Given the description of an element on the screen output the (x, y) to click on. 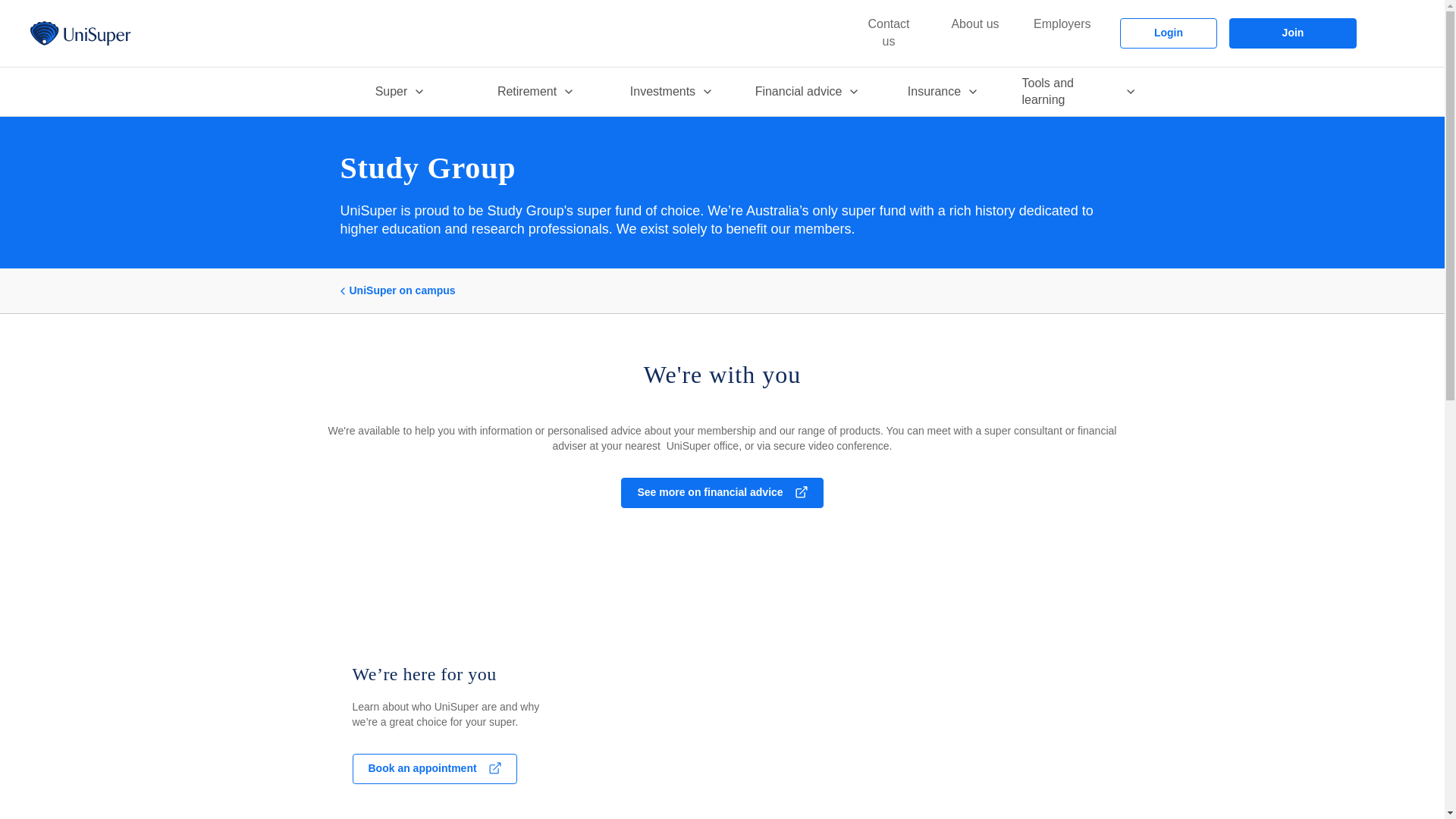
Join (1292, 33)
Super (398, 91)
About us (975, 24)
Contact us (888, 32)
Login (1168, 33)
Employers (1061, 24)
Retirement (535, 91)
Super (398, 91)
UniSuper logo (80, 33)
